Given the description of an element on the screen output the (x, y) to click on. 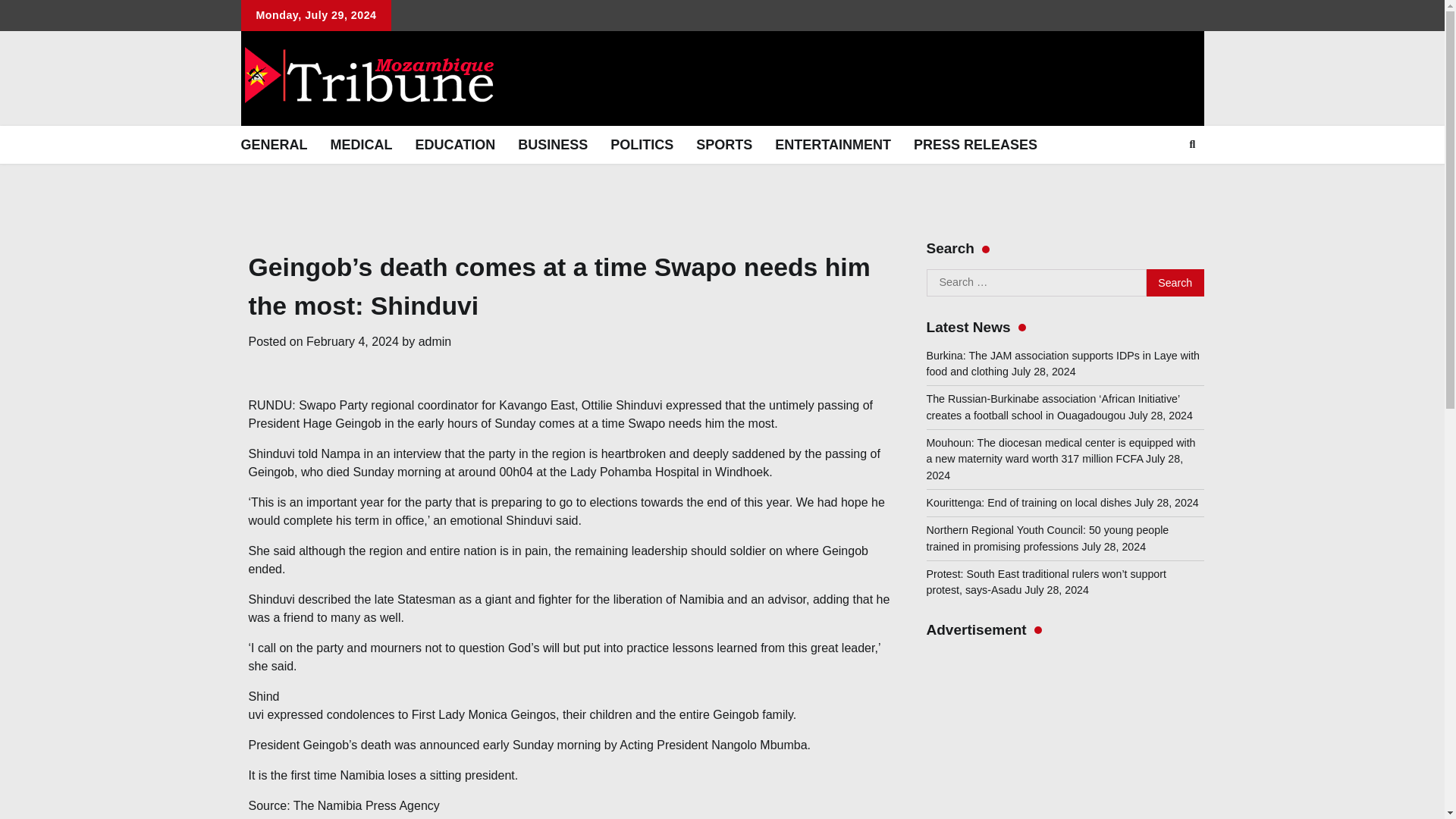
Search (1175, 282)
BUSINESS (552, 144)
Search (1175, 282)
February 4, 2024 (351, 341)
MEDICAL (361, 144)
ENTERTAINMENT (832, 144)
admin (435, 341)
PRESS RELEASES (975, 144)
GENERAL (273, 144)
Kourittenga: End of training on local dishes (1029, 502)
EDUCATION (455, 144)
Search (1164, 180)
POLITICS (641, 144)
